Given the description of an element on the screen output the (x, y) to click on. 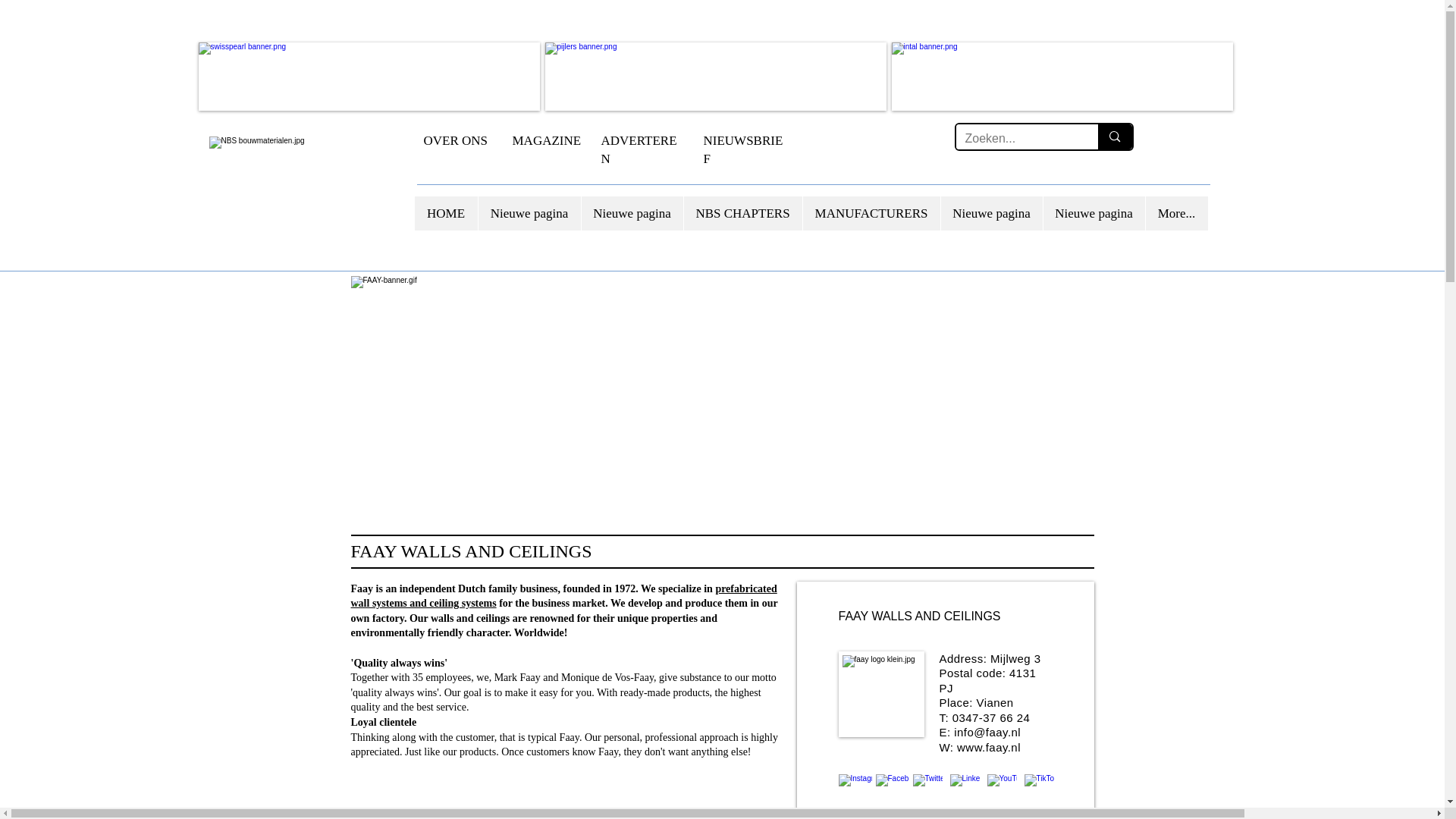
Nieuwe pagina (1093, 213)
NBS CHAPTERS (742, 213)
Nieuwe pagina (528, 213)
MAGAZINE (546, 140)
HOME (445, 213)
Nieuwe pagina (631, 213)
OVER ONS (455, 140)
MANUFACTURERS (871, 213)
Nieuwe pagina (991, 213)
